Given the description of an element on the screen output the (x, y) to click on. 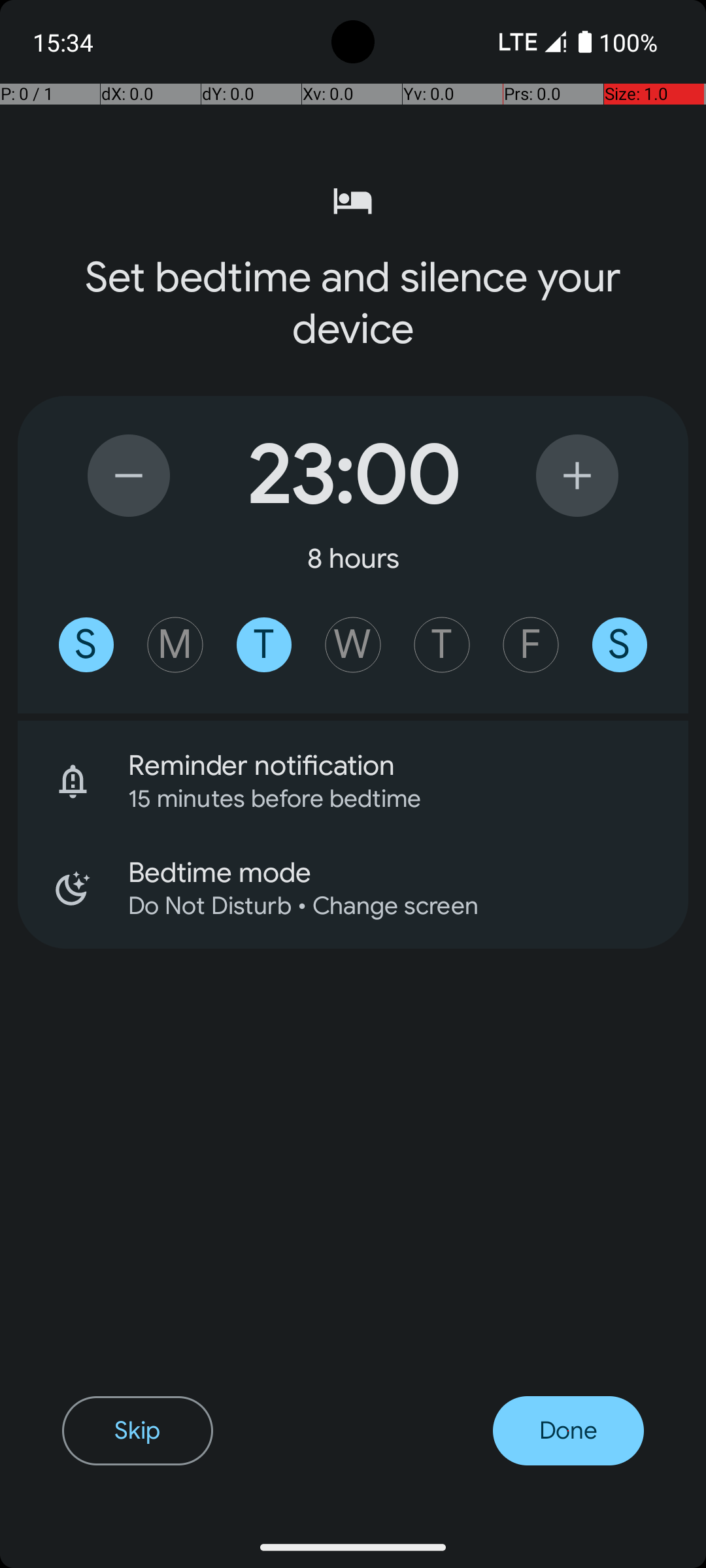
Set bedtime and silence your device Element type: android.widget.TextView (352, 302)
Fifteen minutes earlier Element type: android.widget.ImageView (128, 475)
23:00 Element type: android.widget.TextView (353, 475)
Fifteen minutes later Element type: android.widget.ImageView (577, 475)
8 hours Element type: android.widget.TextView (353, 558)
Skip Element type: android.widget.Button (137, 1430)
Reminder notification Element type: android.widget.TextView (408, 765)
15 minutes before bedtime Element type: android.widget.TextView (390, 798)
Bedtime mode Element type: android.widget.TextView (408, 872)
Do Not Disturb • Change screen Element type: android.widget.TextView (390, 905)
